Given the description of an element on the screen output the (x, y) to click on. 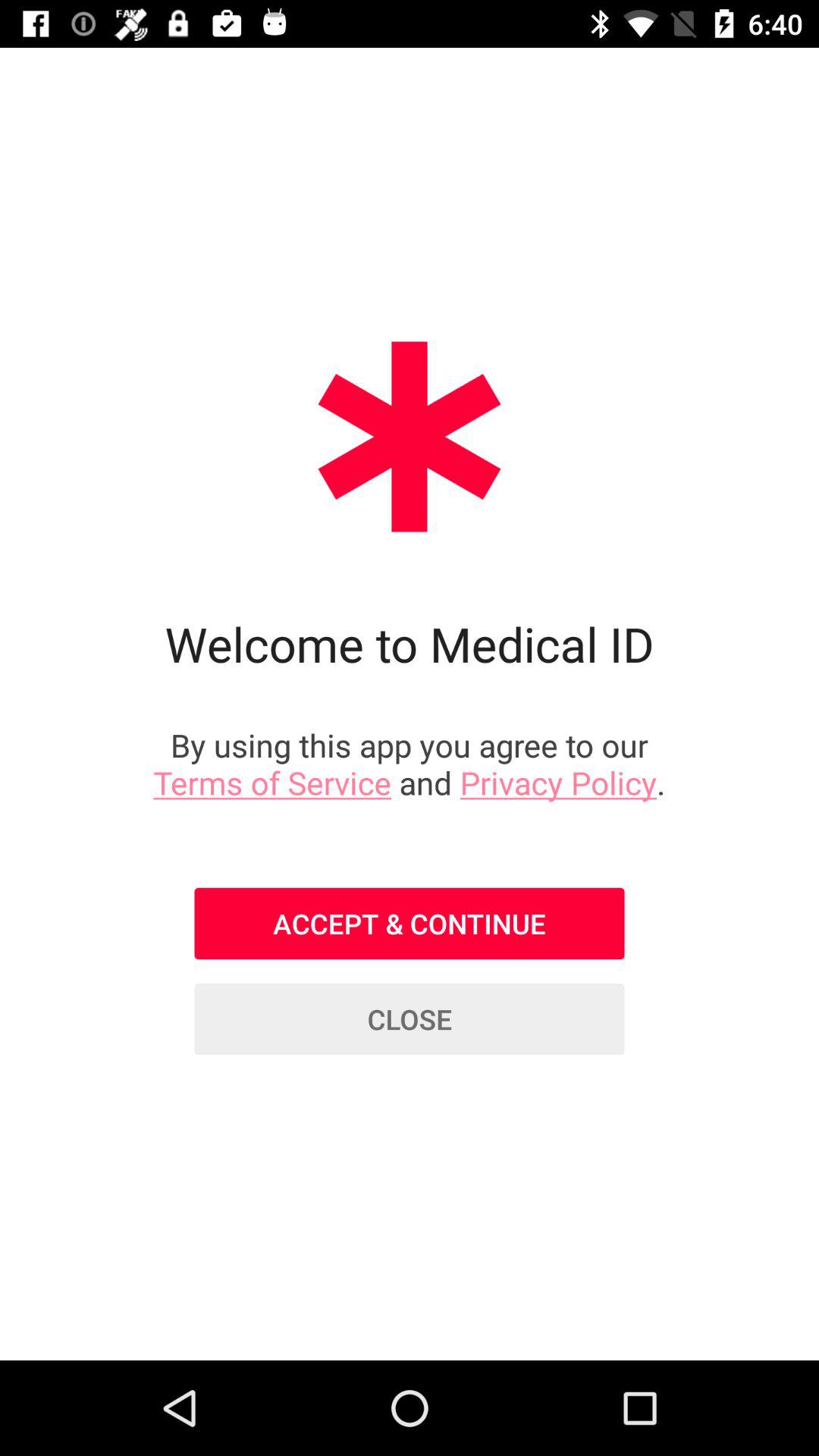
scroll until accept & continue (409, 923)
